Given the description of an element on the screen output the (x, y) to click on. 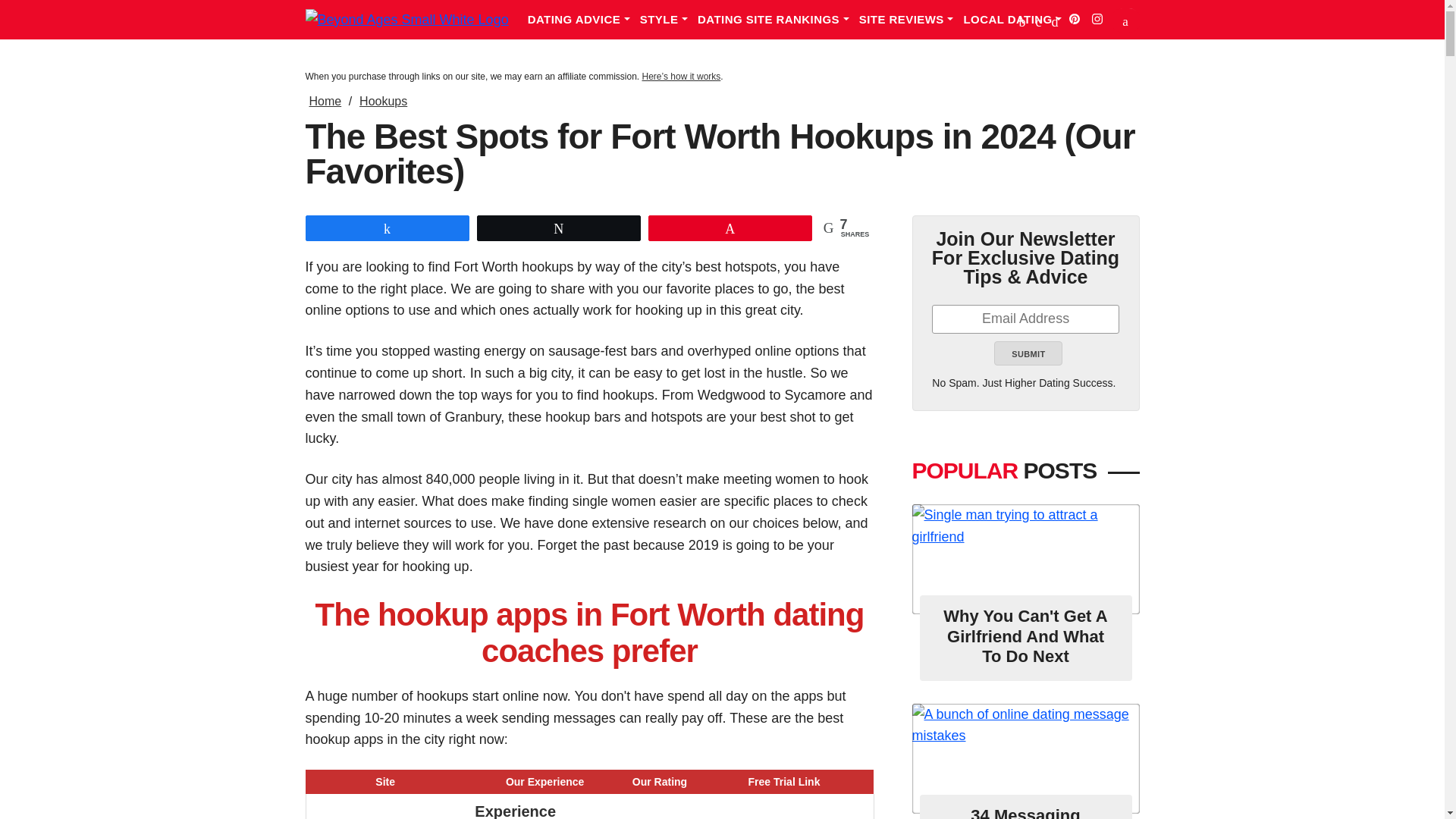
LOCAL DATING (1016, 19)
Dating Site Rankings (778, 19)
Pinterest icon (1074, 18)
DATING ADVICE (583, 19)
DATING SITE RANKINGS (778, 19)
Style (668, 19)
Instagram icon (1097, 18)
SITE REVIEWS (911, 19)
Submit (1028, 353)
Site Reviews (911, 19)
Dating Advice (583, 19)
STYLE (668, 19)
